Given the description of an element on the screen output the (x, y) to click on. 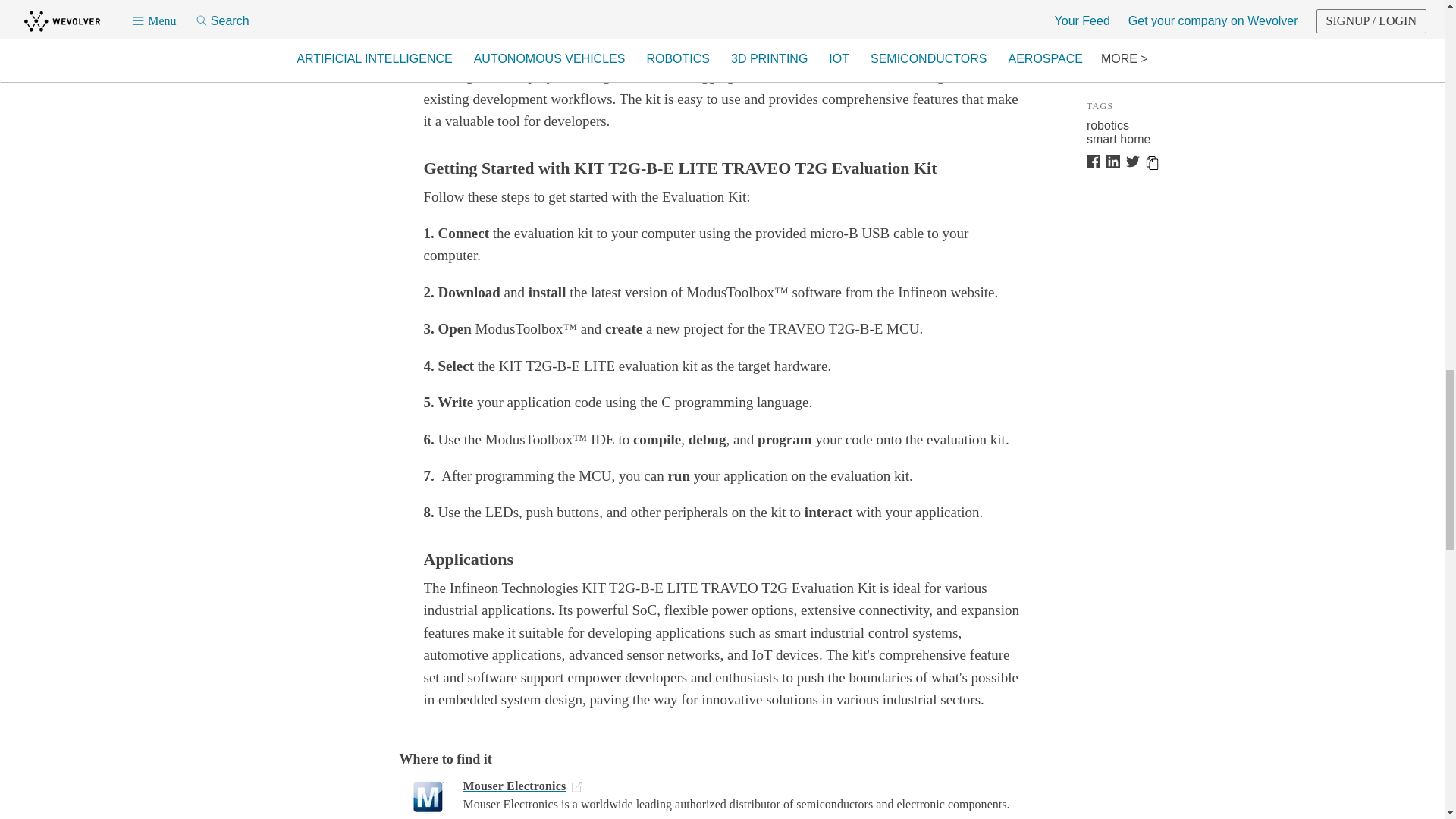
Mouser Electronics (736, 787)
